Given the description of an element on the screen output the (x, y) to click on. 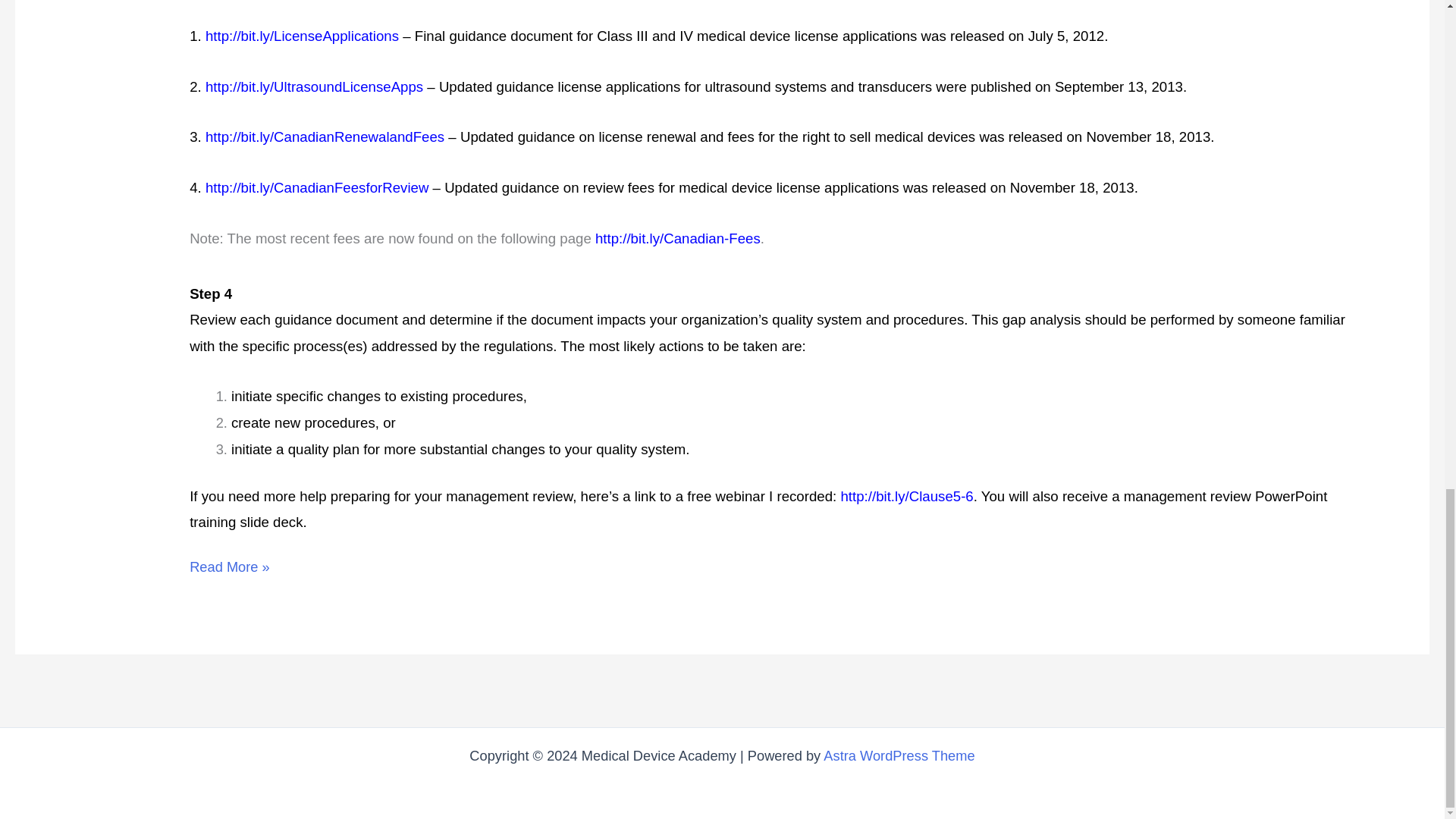
Link to the License Application Guidance Document (301, 35)
Updated Guidance on fees for review (317, 187)
Updated guidance on license renewal and fees (324, 136)
Link to Ultrasound Device Licensing Guidance Document (314, 86)
Link to access webinar on Management Reviews (906, 496)
